Given the description of an element on the screen output the (x, y) to click on. 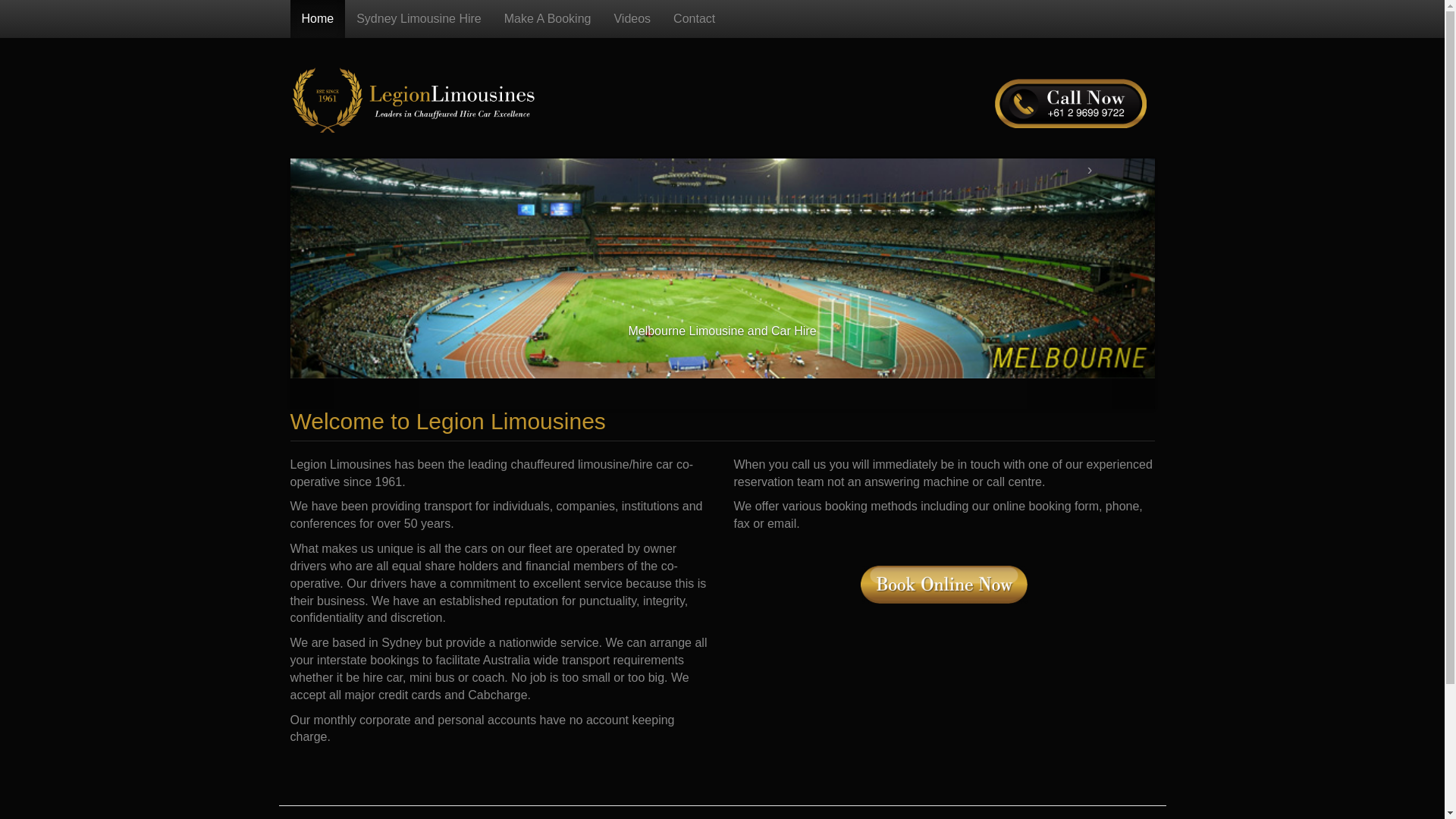
Make A Booking Element type: text (547, 18)
Skip to main content Element type: text (0, 48)
Home Element type: text (317, 18)
Contact Element type: text (694, 18)
Videos Element type: text (632, 18)
Sydney Limousine Hire Element type: text (418, 18)
